Given the description of an element on the screen output the (x, y) to click on. 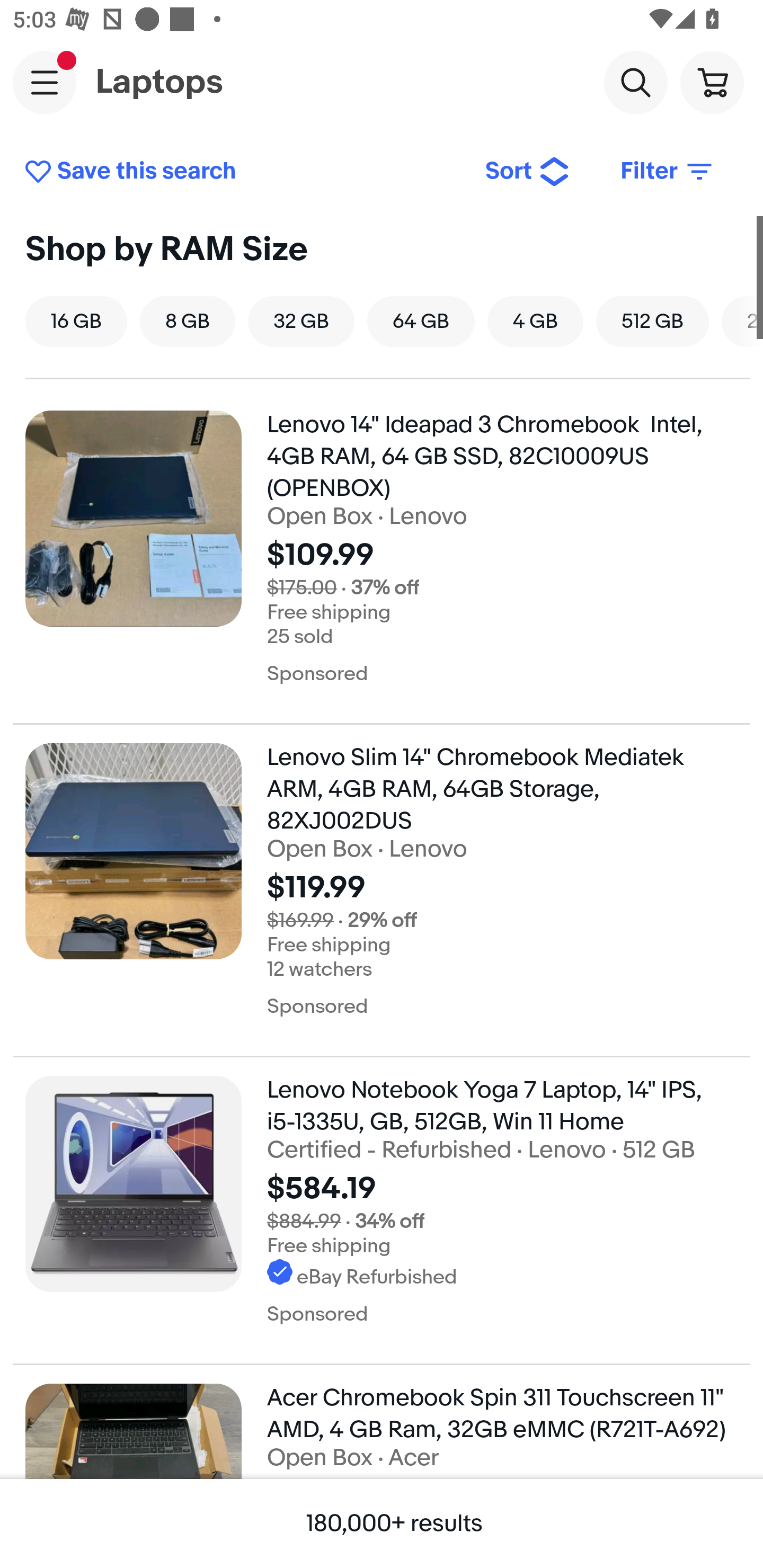
Main navigation, notification is pending, open (44, 82)
Search (635, 81)
Cart button shopping cart (711, 81)
Save this search (241, 171)
Sort (527, 171)
Filter (667, 171)
16 GB 16 GB, RAM Size (76, 321)
8 GB 8 GB, RAM Size (187, 321)
32 GB 32 GB, RAM Size (300, 321)
64 GB 64 GB, RAM Size (420, 321)
4 GB 4 GB, RAM Size (535, 321)
512 GB 512 GB, RAM Size (651, 321)
